Given the description of an element on the screen output the (x, y) to click on. 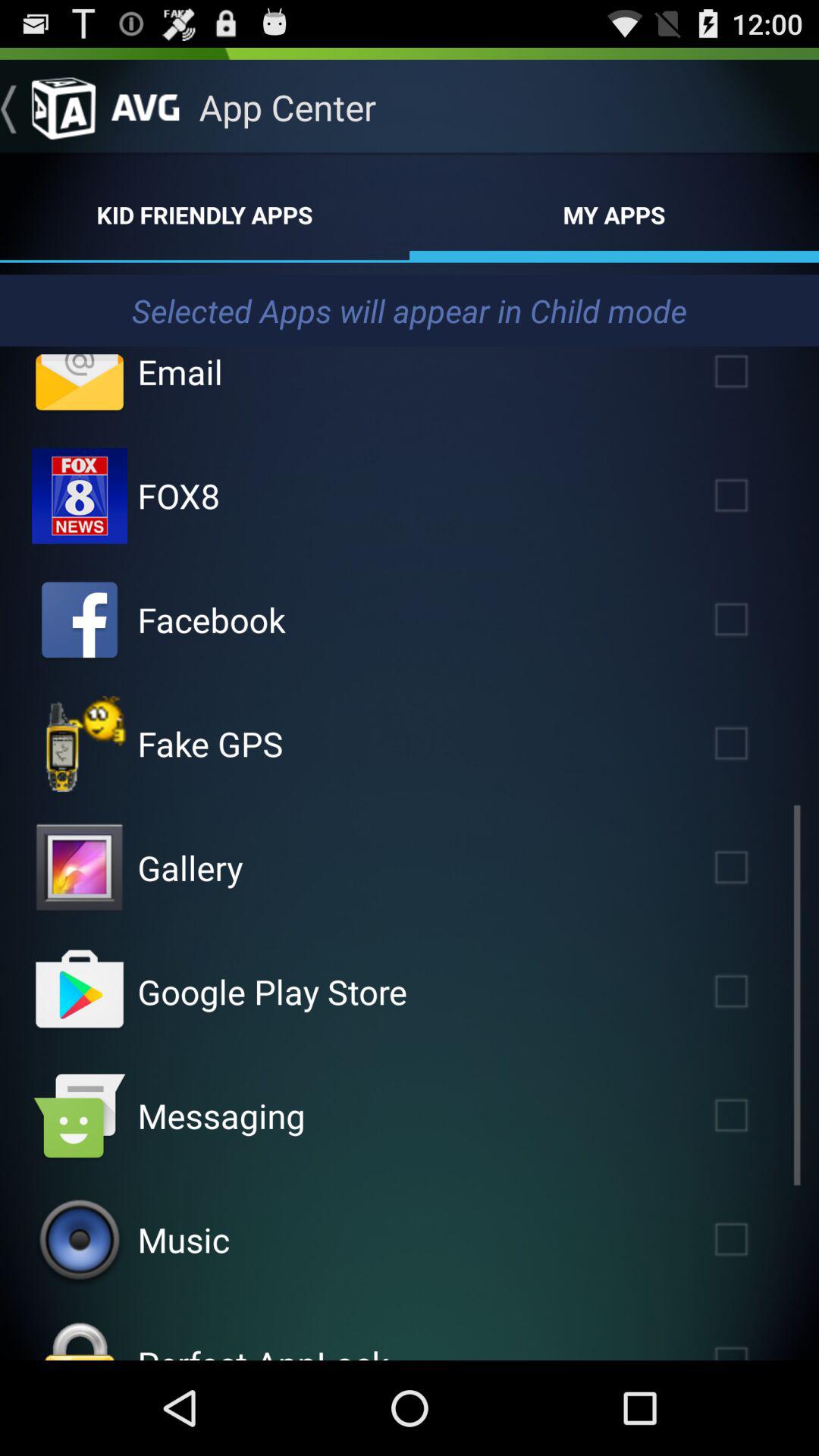
toggle child mode (753, 1115)
